Given the description of an element on the screen output the (x, y) to click on. 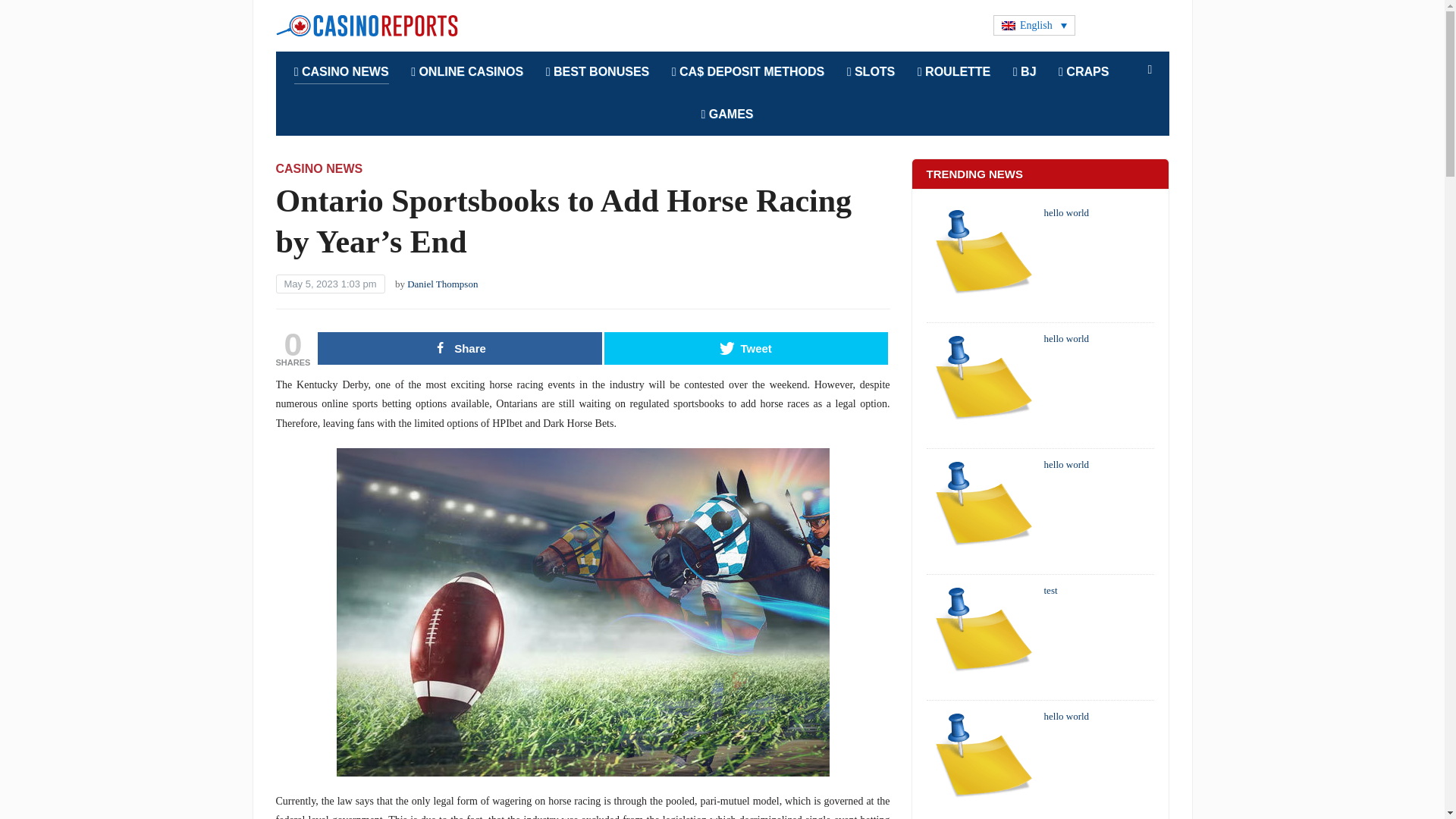
English (1033, 25)
hello world (983, 261)
Search (1149, 69)
hello world (983, 513)
test (983, 639)
hello world (983, 387)
hello world (983, 763)
